Given the description of an element on the screen output the (x, y) to click on. 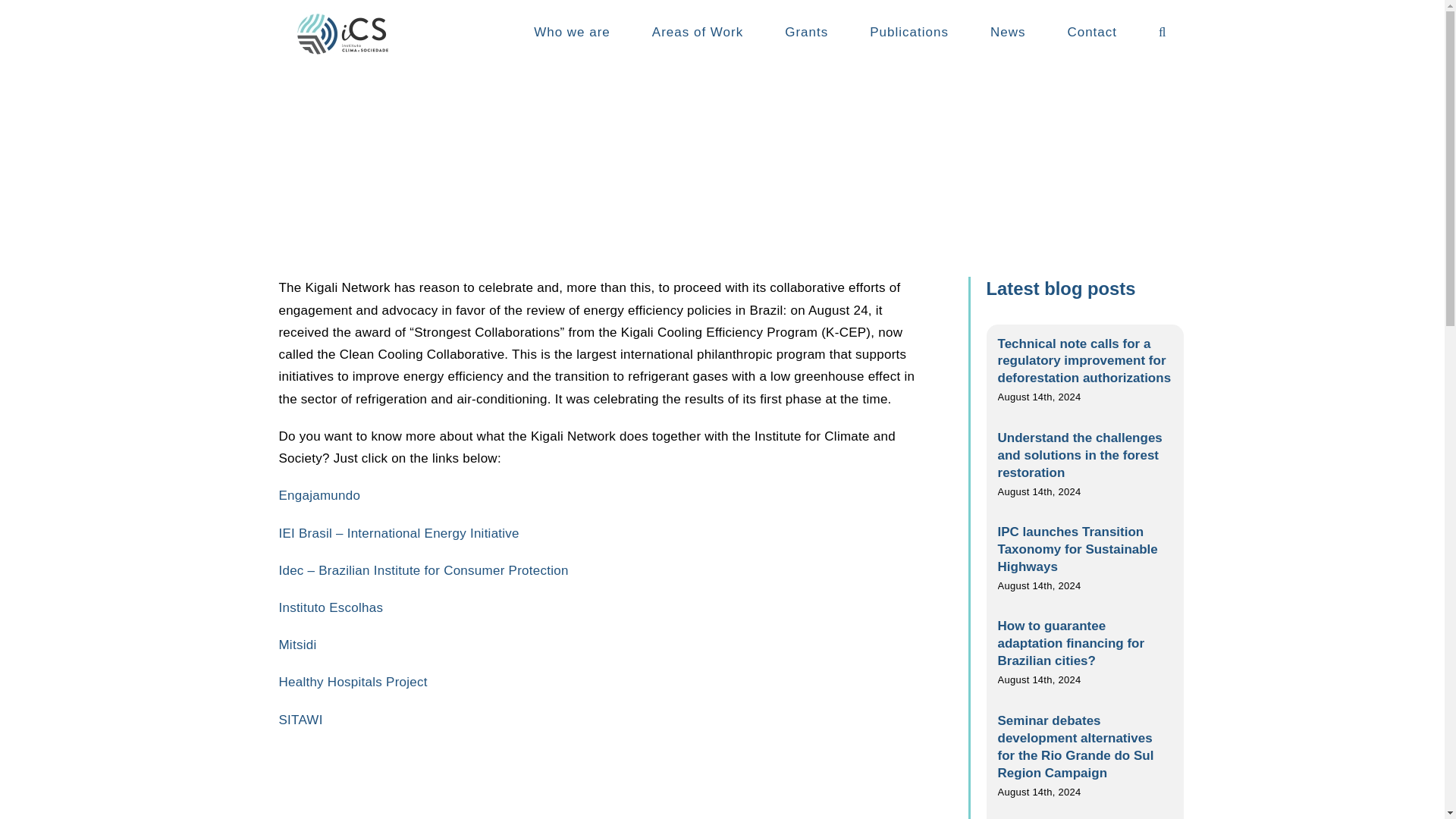
Publications (909, 32)
Engajamundo (318, 495)
Who we are (572, 32)
Instituto Escolhas (330, 607)
Areas of Work (697, 32)
